Given the description of an element on the screen output the (x, y) to click on. 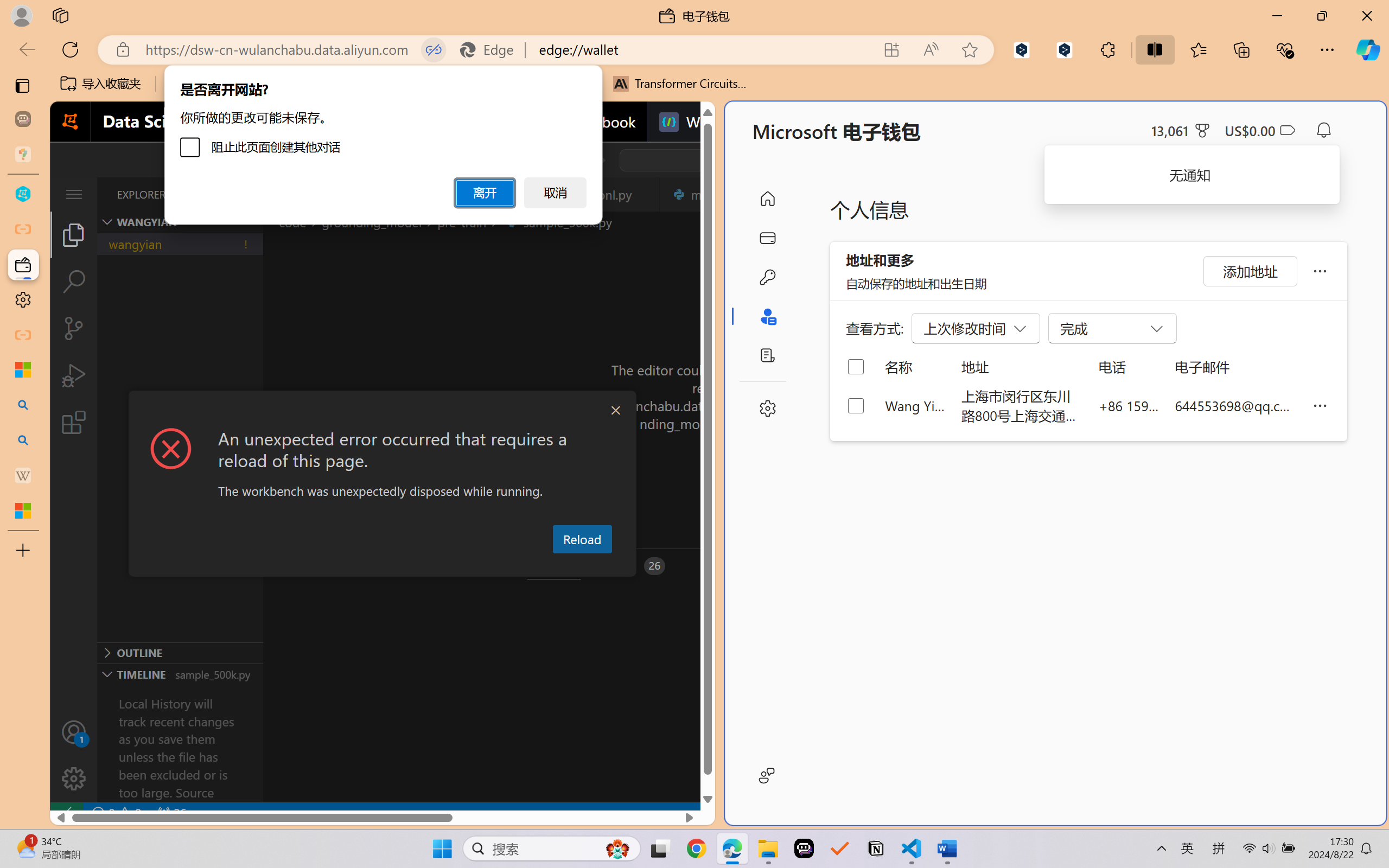
remote (66, 812)
Class: menubar compact overflow-menu-only (73, 194)
+86 159 0032 4640 (1128, 405)
Wang Yian (914, 405)
